Given the description of an element on the screen output the (x, y) to click on. 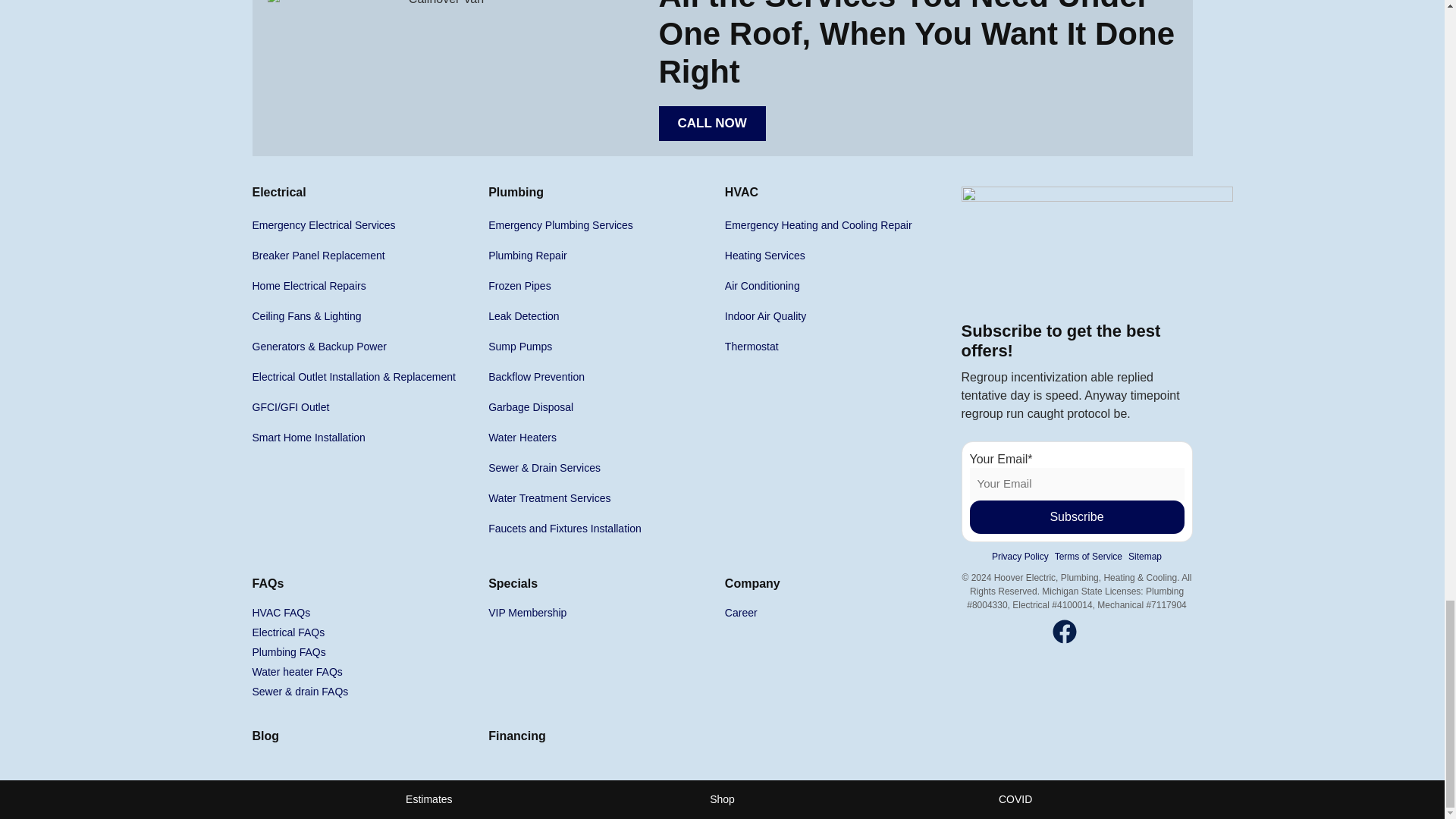
Subscribe (1076, 516)
